Given the description of an element on the screen output the (x, y) to click on. 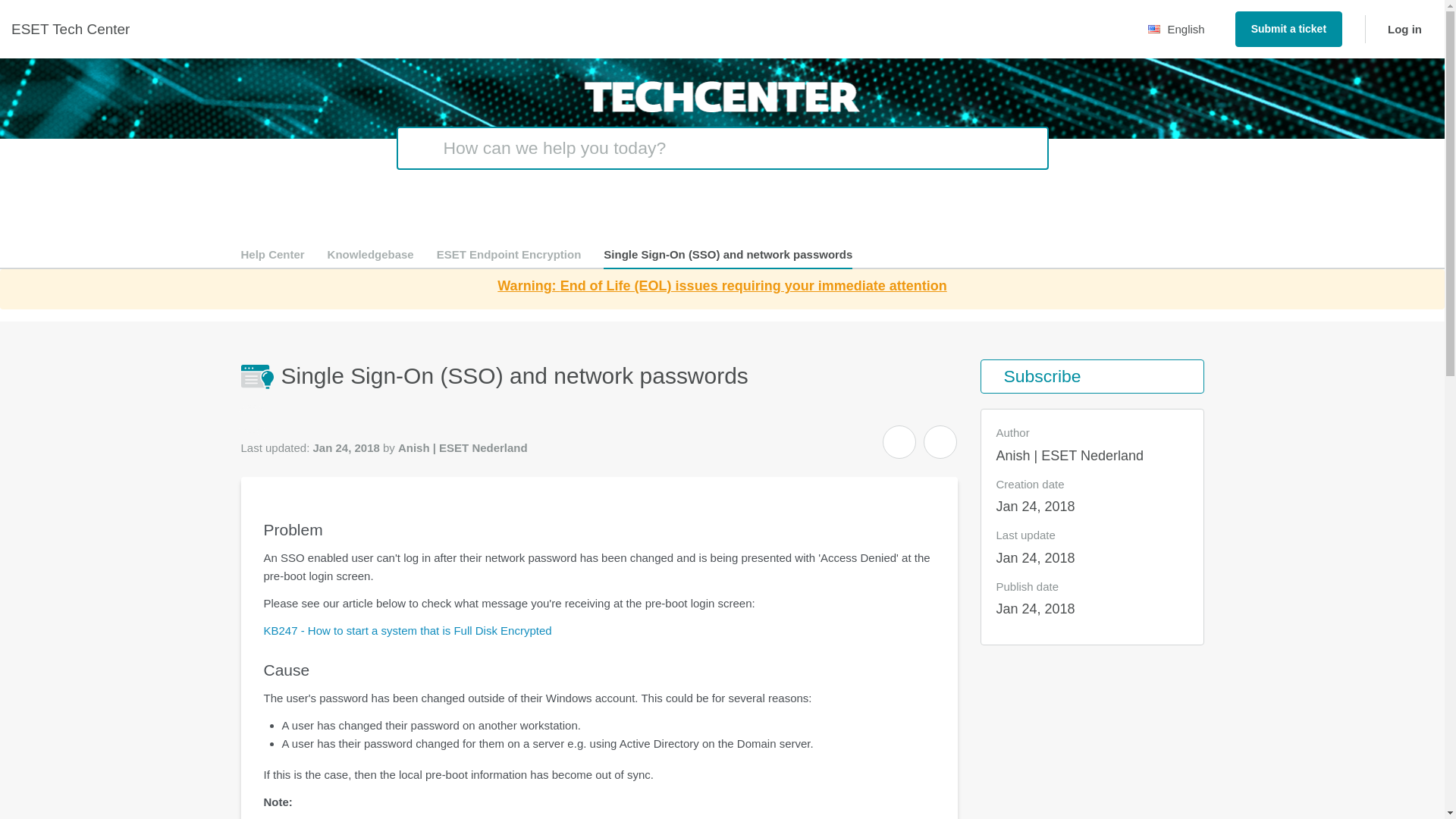
Help Center (272, 254)
English (1180, 29)
Knowledgebase (370, 254)
KB247 - How to start a system that is Full Disk Encrypted (407, 630)
Log in (1398, 29)
ESET Endpoint Encryption (508, 254)
ESET Tech Center (70, 29)
Submit a ticket (1288, 28)
